Given the description of an element on the screen output the (x, y) to click on. 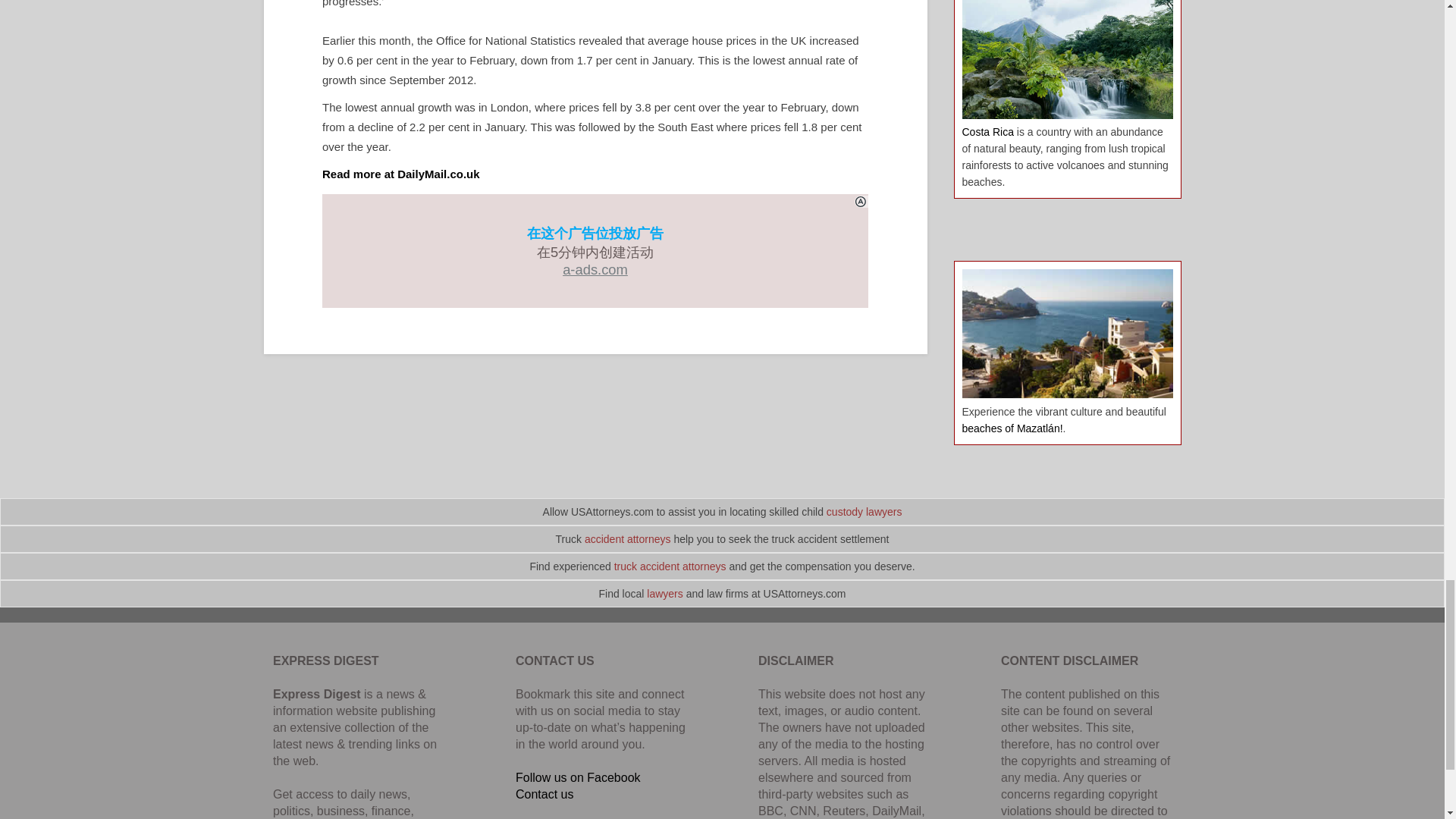
accident attorneys (628, 539)
Read more at DailyMail.co.uk (400, 173)
lawyers (664, 593)
truck accident attorneys (670, 566)
Costa Rica (986, 132)
custody lawyers (864, 511)
